Given the description of an element on the screen output the (x, y) to click on. 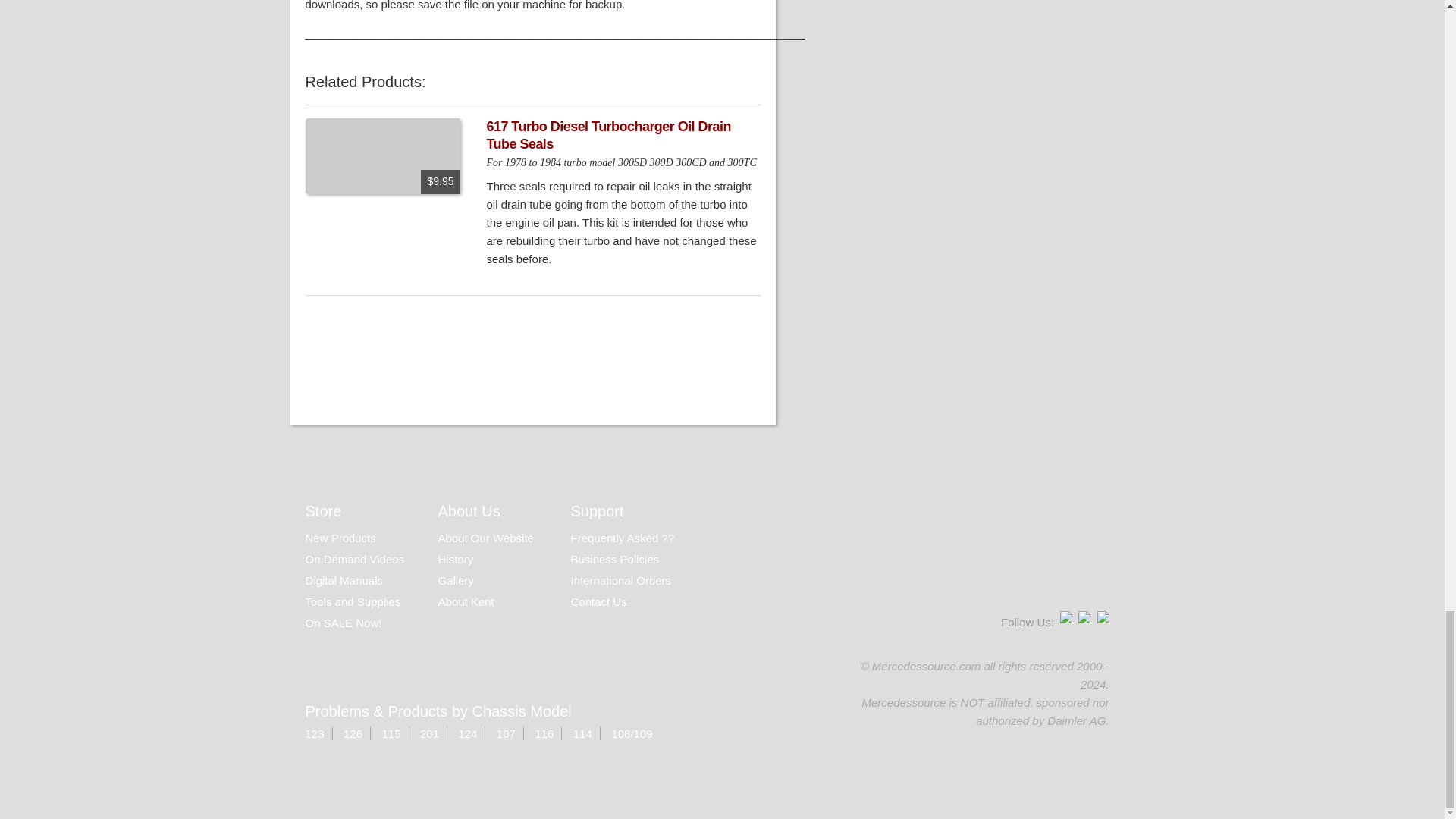
Business Policies (614, 558)
About Our Website (486, 537)
About Kent (466, 601)
On Demand Videos  (355, 558)
Tools and Supplies (352, 601)
History (456, 558)
International Orders (620, 580)
617 Turbo Diesel Turbocharger Oil Drain Tube Seals (608, 134)
Frequently Asked ?? (622, 537)
On SALE Now! (342, 622)
